Given the description of an element on the screen output the (x, y) to click on. 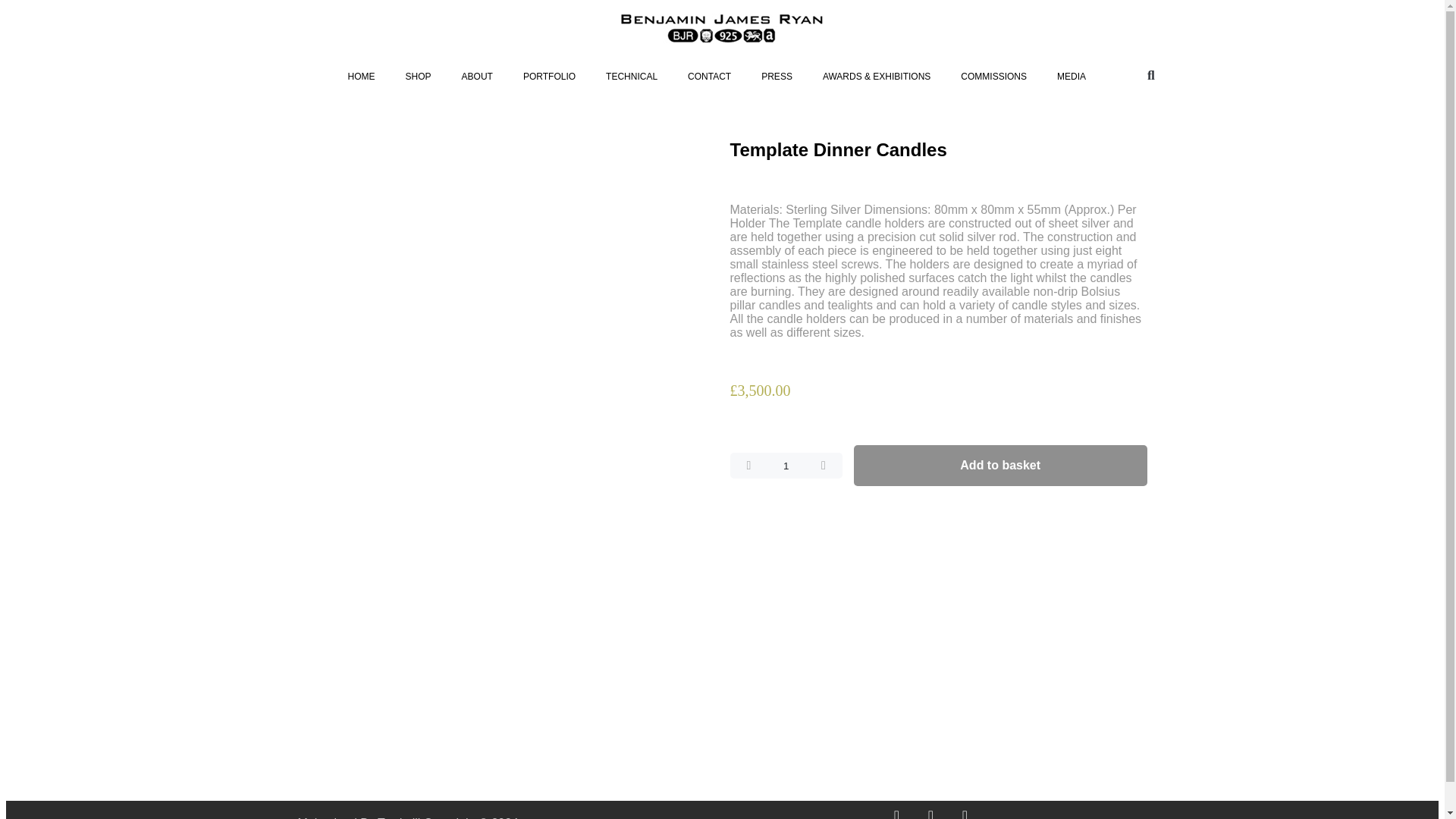
TECHNICAL (631, 76)
COMMISSIONS (993, 76)
HOME (361, 76)
CONTACT (708, 76)
PRESS (776, 76)
MEDIA (1071, 76)
1 (785, 465)
ABOUT (477, 76)
SHOP (418, 76)
PORTFOLIO (549, 76)
